Given the description of an element on the screen output the (x, y) to click on. 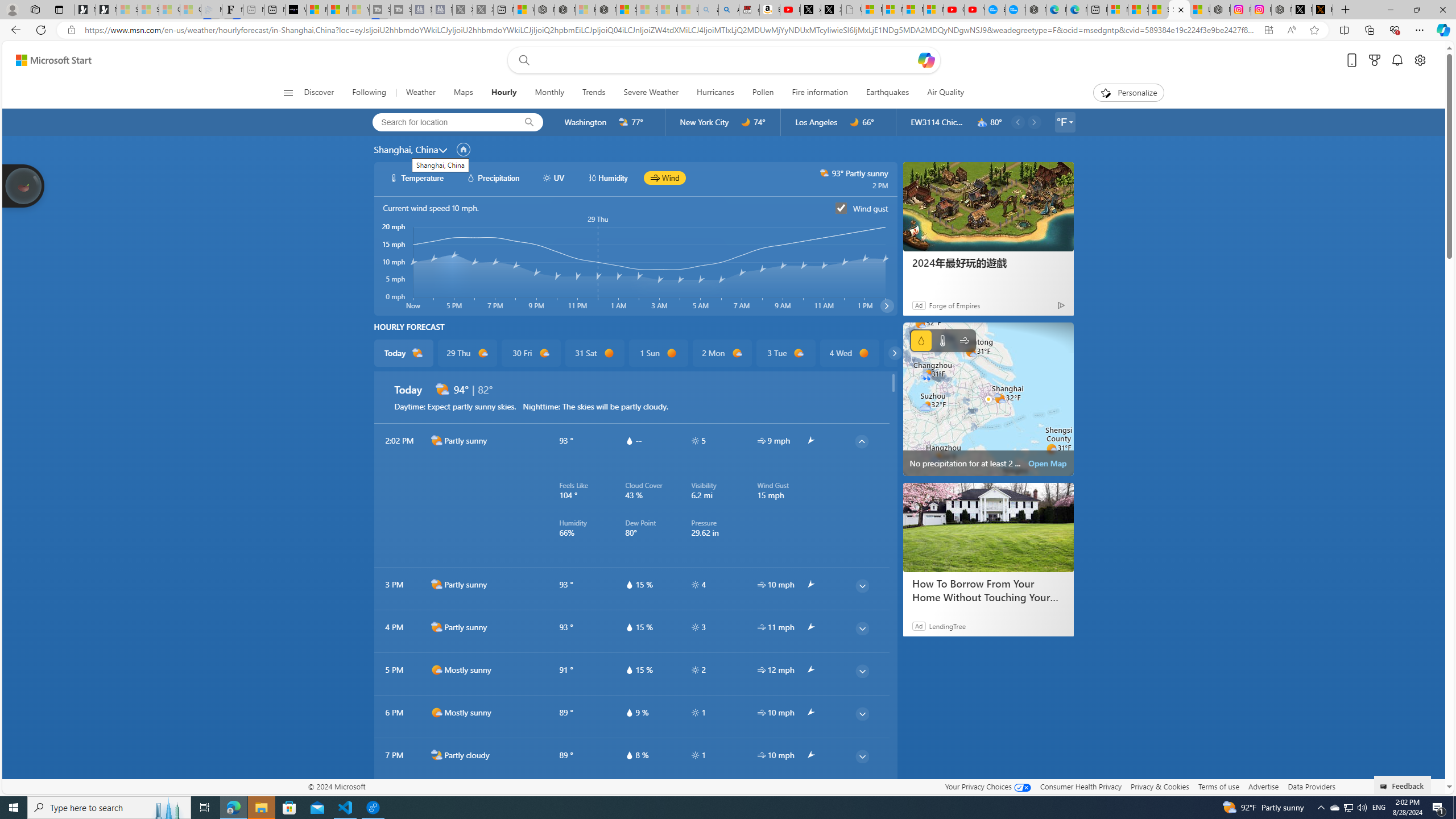
Web search (520, 60)
Hurricanes (715, 92)
static map image of vector map (988, 398)
hourlyChart/precipitationWhite Precipitation (493, 178)
Severe Weather (651, 92)
common/carouselChevron (894, 352)
locationBar/triangle (1070, 122)
common/arrow (809, 797)
hourlyChart/humidityWhite (591, 177)
Nordace (@NordaceOfficial) / X (1302, 9)
Pollen (762, 92)
help.x.com | 524: A timeout occurred (1322, 9)
